Given the description of an element on the screen output the (x, y) to click on. 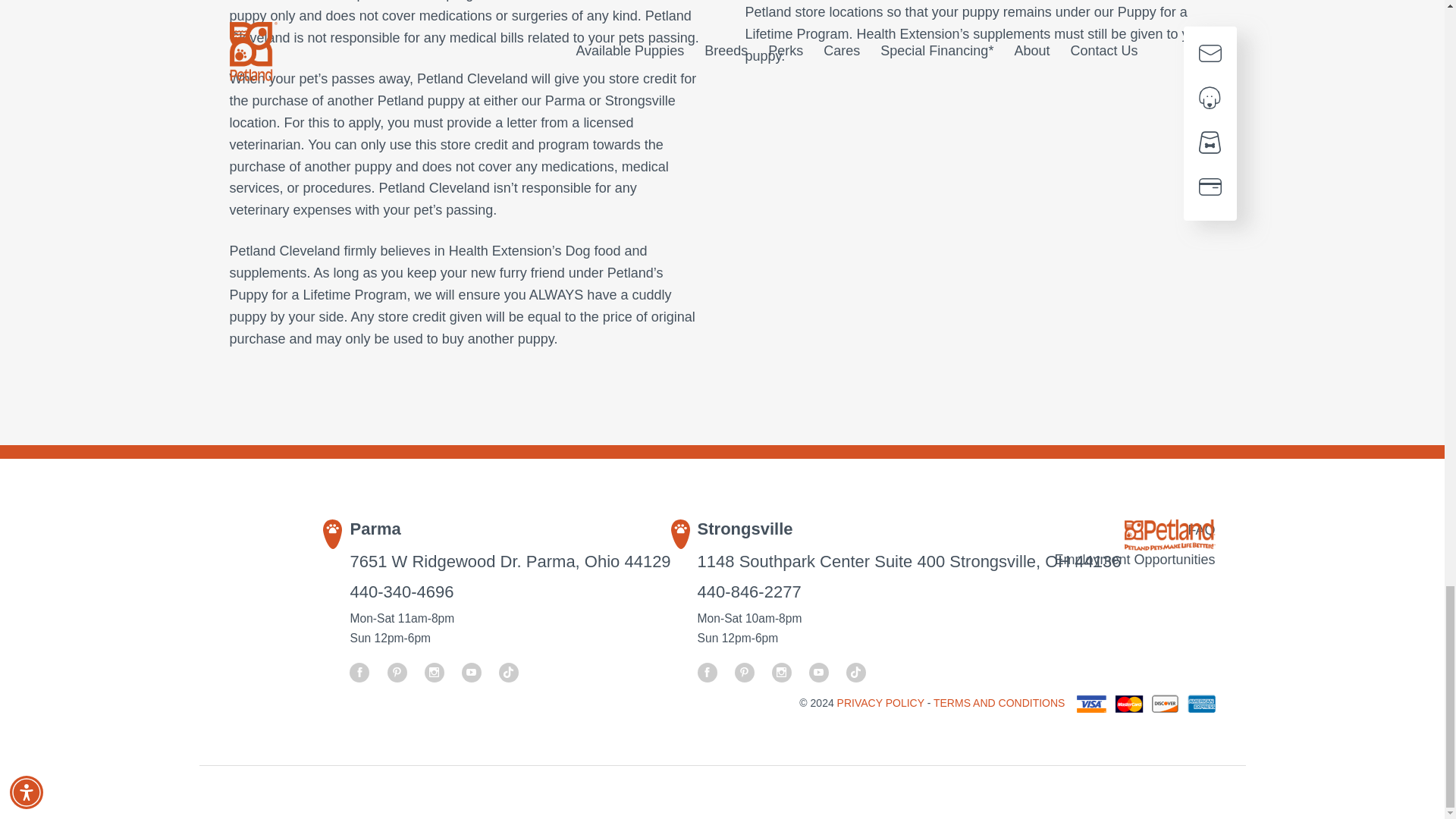
440-846-2277 (749, 591)
1148 Southpark Center Suite 400 Strongsville, OH 44136 (909, 561)
440-340-4696 (400, 591)
Employment Opportunities (768, 559)
7651 W Ridgewood Dr. Parma, Ohio 44129 (509, 561)
FAQ (768, 530)
TERMS AND CONDITIONS (998, 702)
PRIVACY POLICY (882, 702)
